Given the description of an element on the screen output the (x, y) to click on. 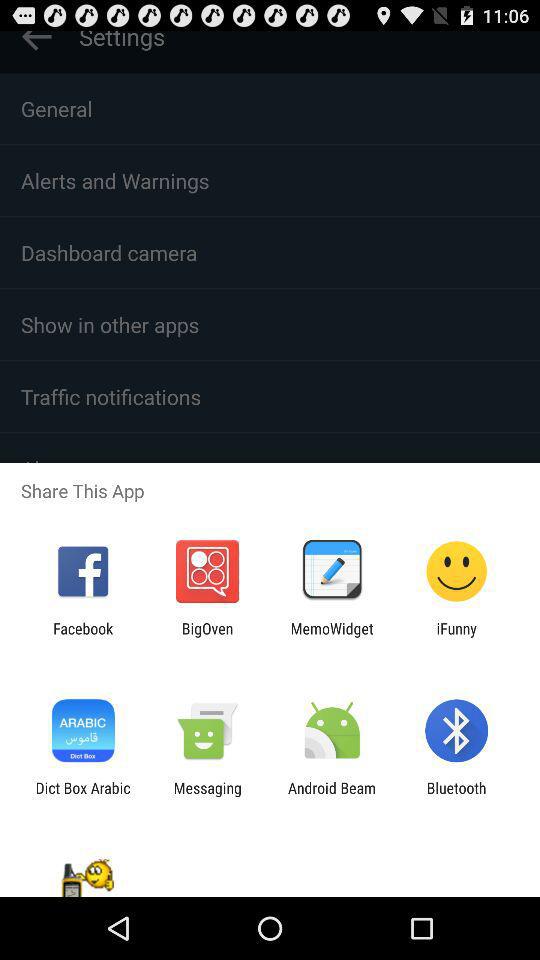
select item to the left of the bluetooth item (332, 796)
